Given the description of an element on the screen output the (x, y) to click on. 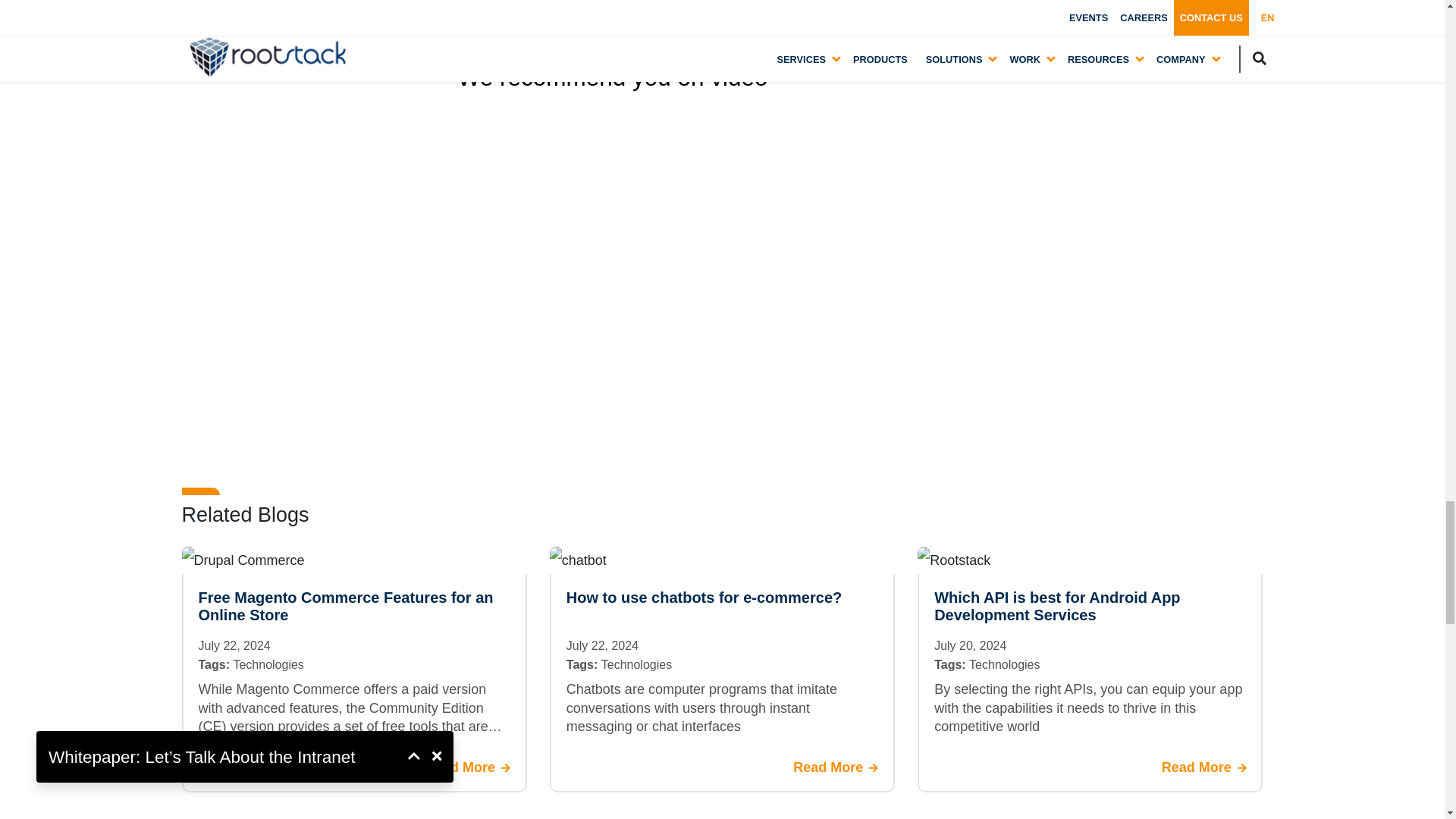
Read More (835, 767)
Read More (468, 767)
Drupal Commerce (243, 560)
Read More (1203, 767)
rootstack (953, 560)
chatbot (578, 560)
